Given the description of an element on the screen output the (x, y) to click on. 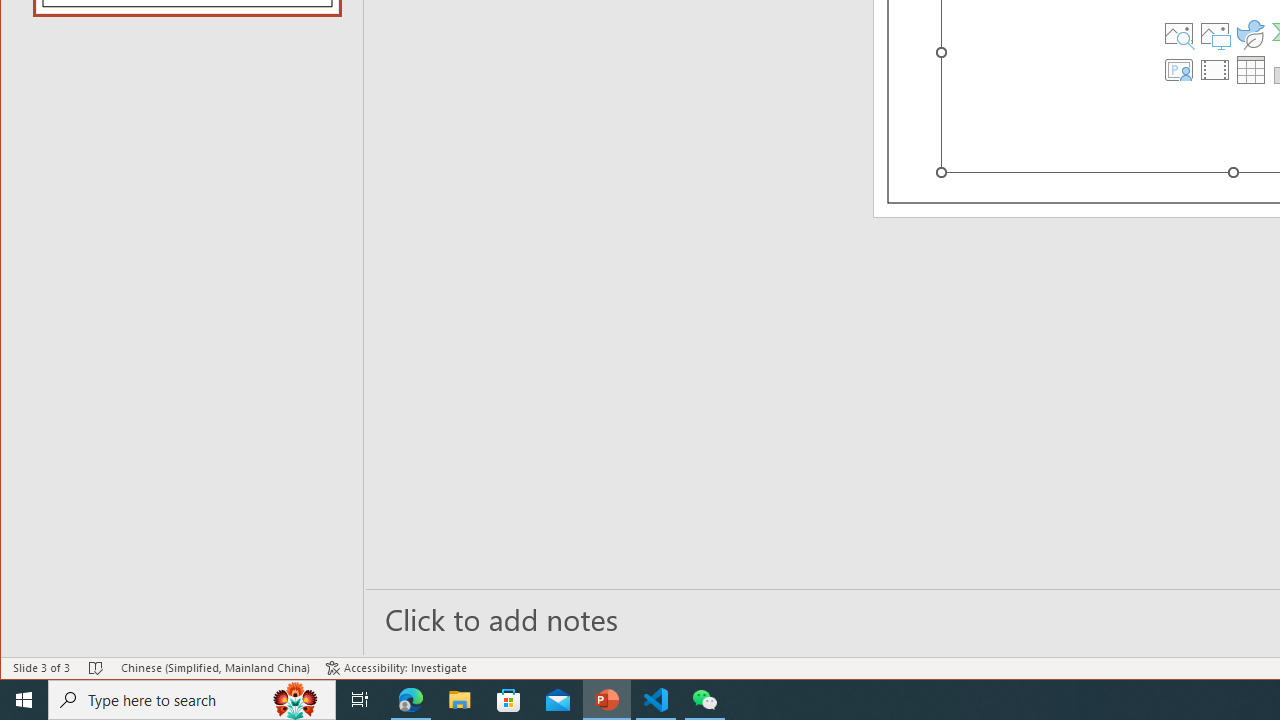
Insert an Icon (1251, 33)
WeChat - 1 running window (704, 699)
Stock Images (1179, 33)
Insert Cameo (1179, 69)
